Given the description of an element on the screen output the (x, y) to click on. 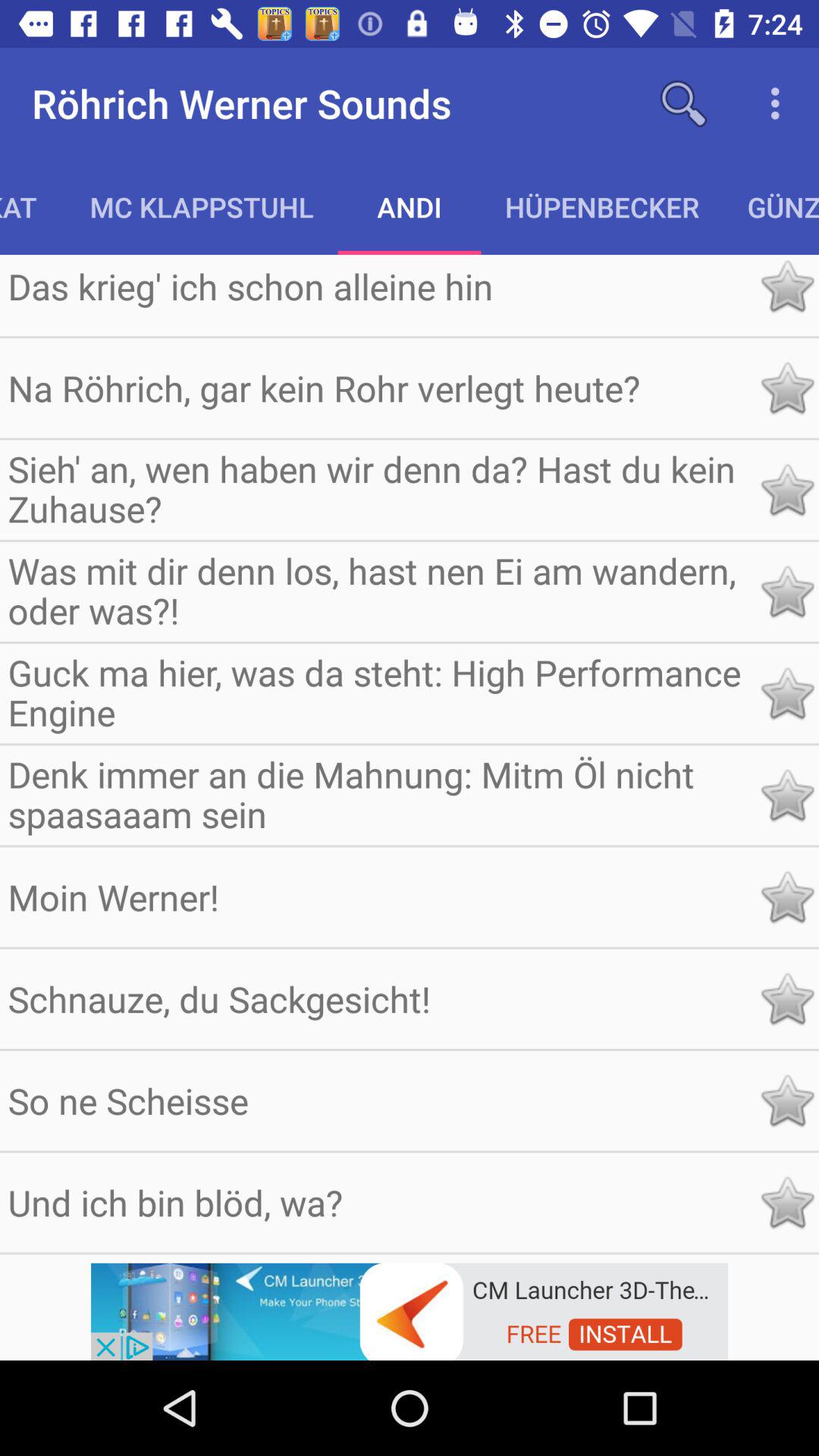
add the favorites (787, 1202)
